Given the description of an element on the screen output the (x, y) to click on. 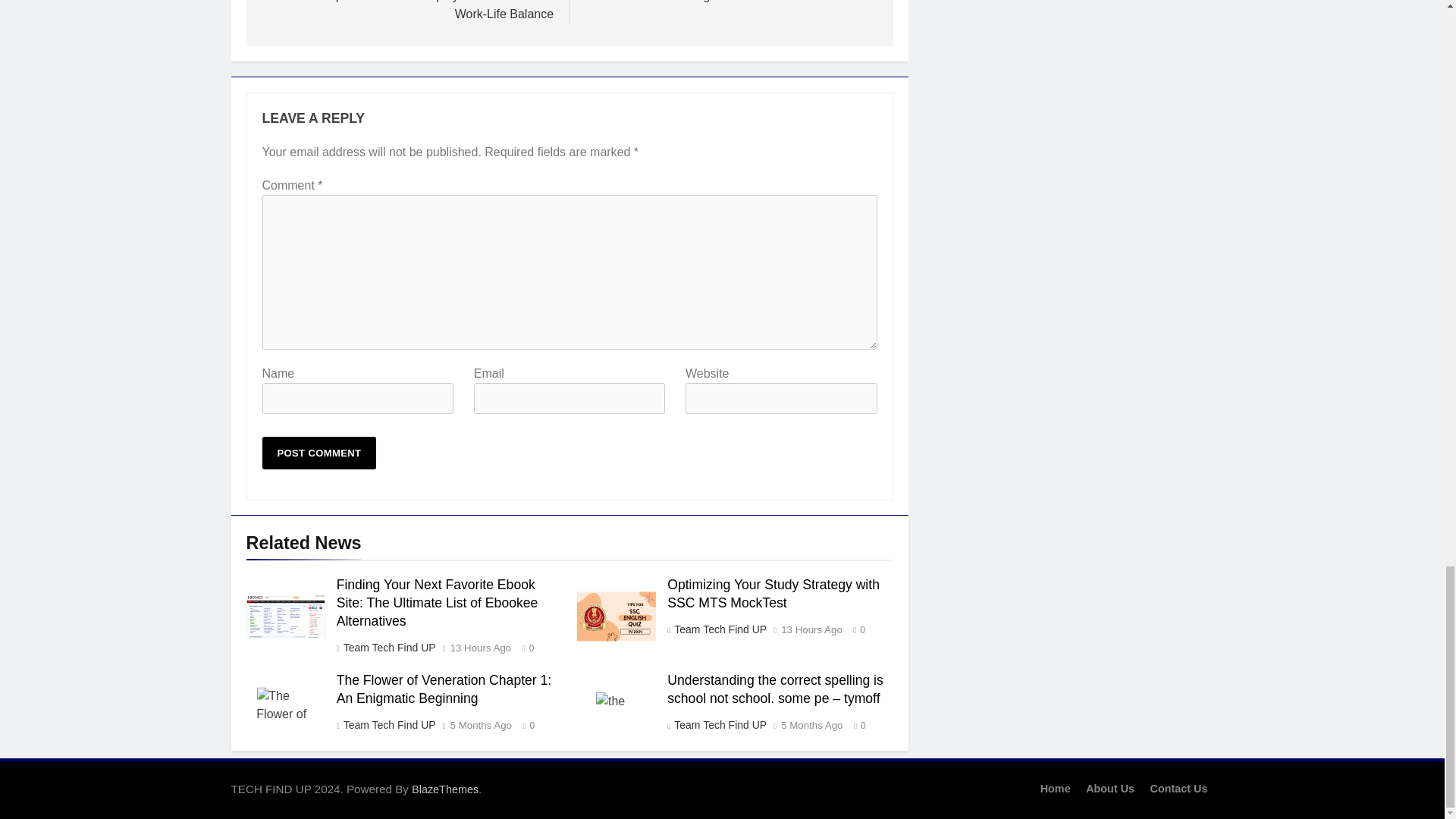
13 Hours Ago (480, 647)
The Flower of Veneration Chapter 1: An Enigmatic Beginning (285, 703)
Post Comment (319, 452)
Optimizing Your Study Strategy with SSC MTS MockTest (616, 616)
